Given the description of an element on the screen output the (x, y) to click on. 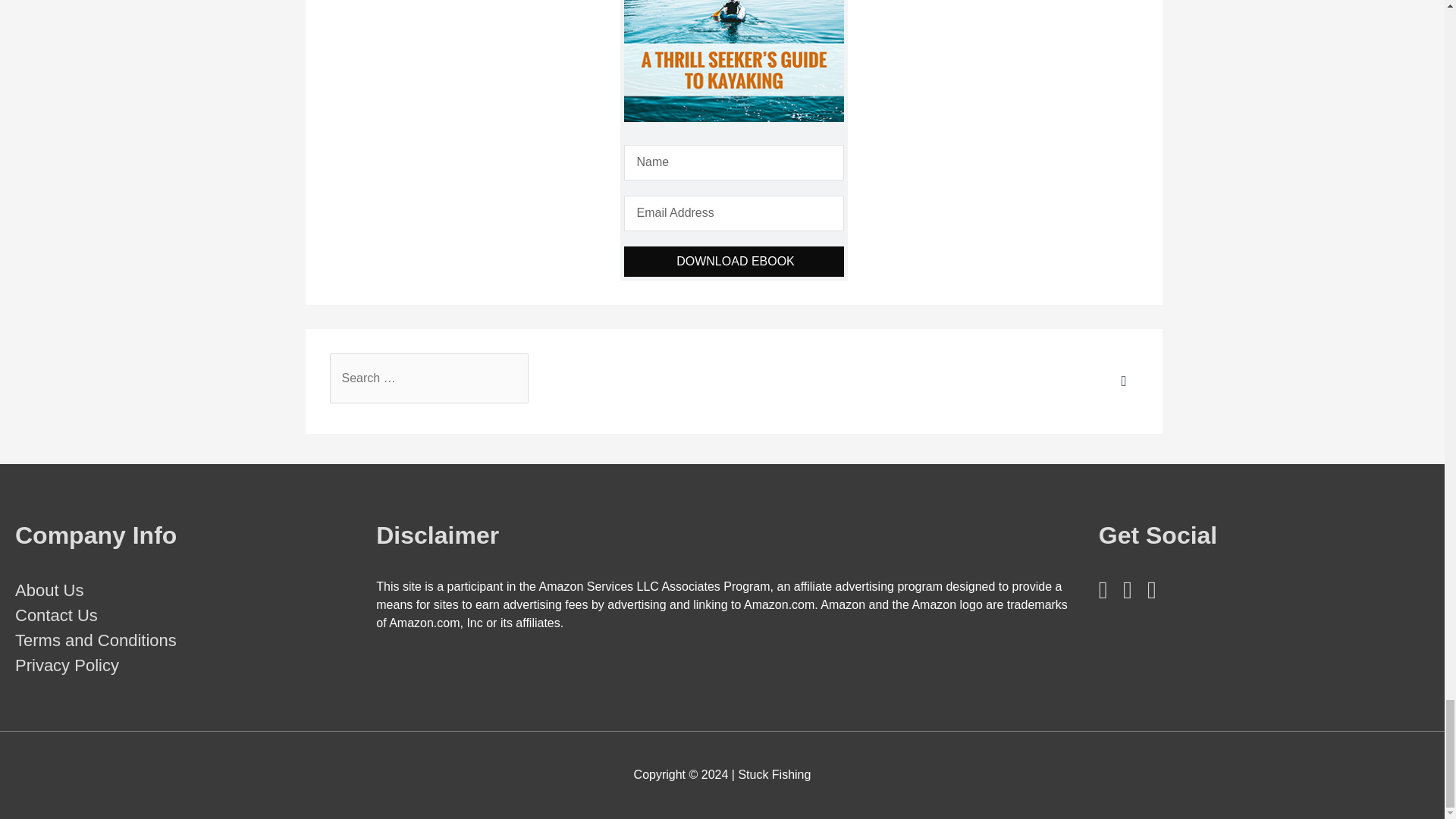
About Us (49, 589)
Contact Us (55, 615)
DOWNLOAD EBOOK (733, 261)
Privacy Policy (66, 665)
Terms and Conditions (95, 640)
